Given the description of an element on the screen output the (x, y) to click on. 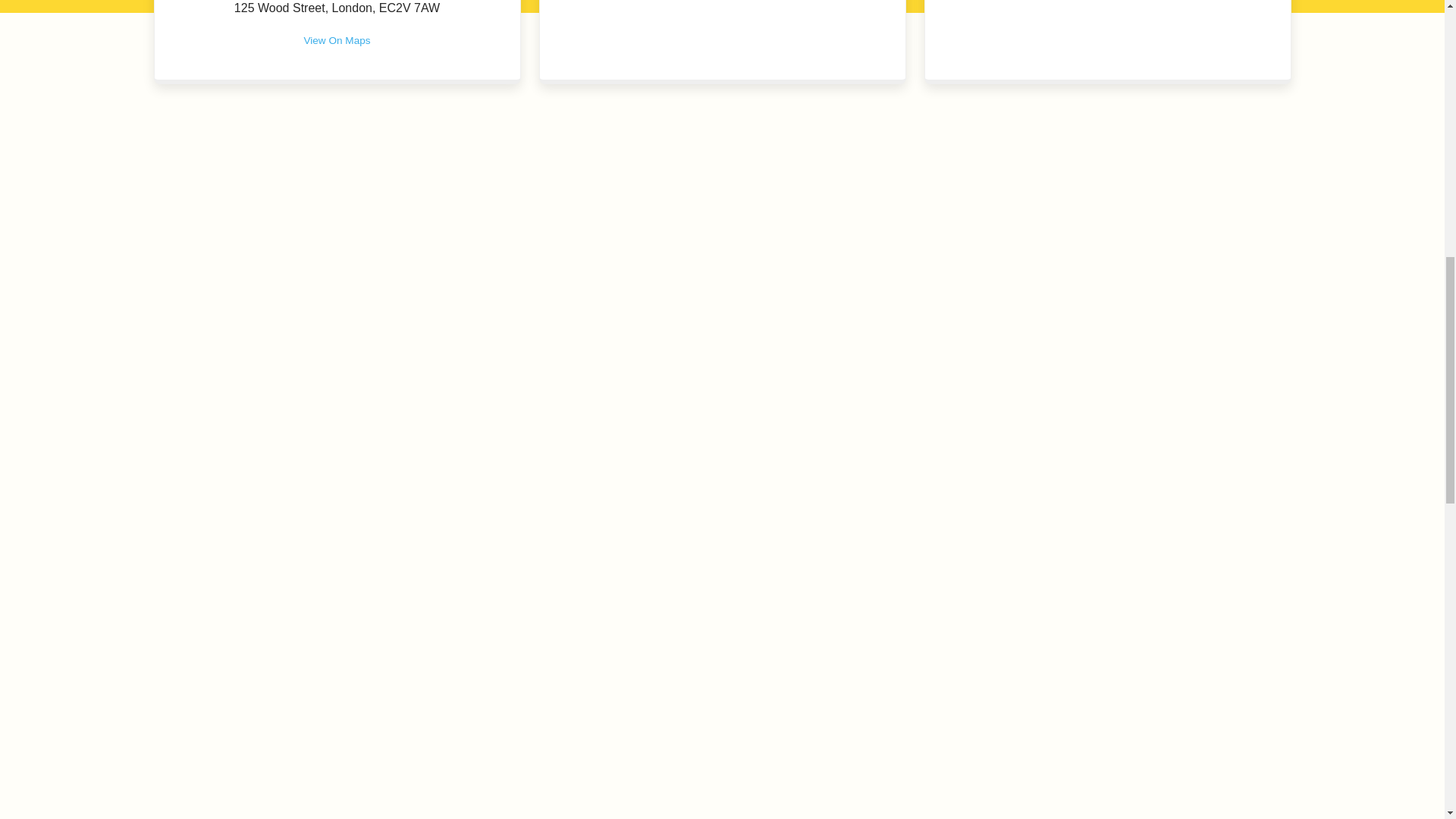
View On Maps (335, 46)
